Given the description of an element on the screen output the (x, y) to click on. 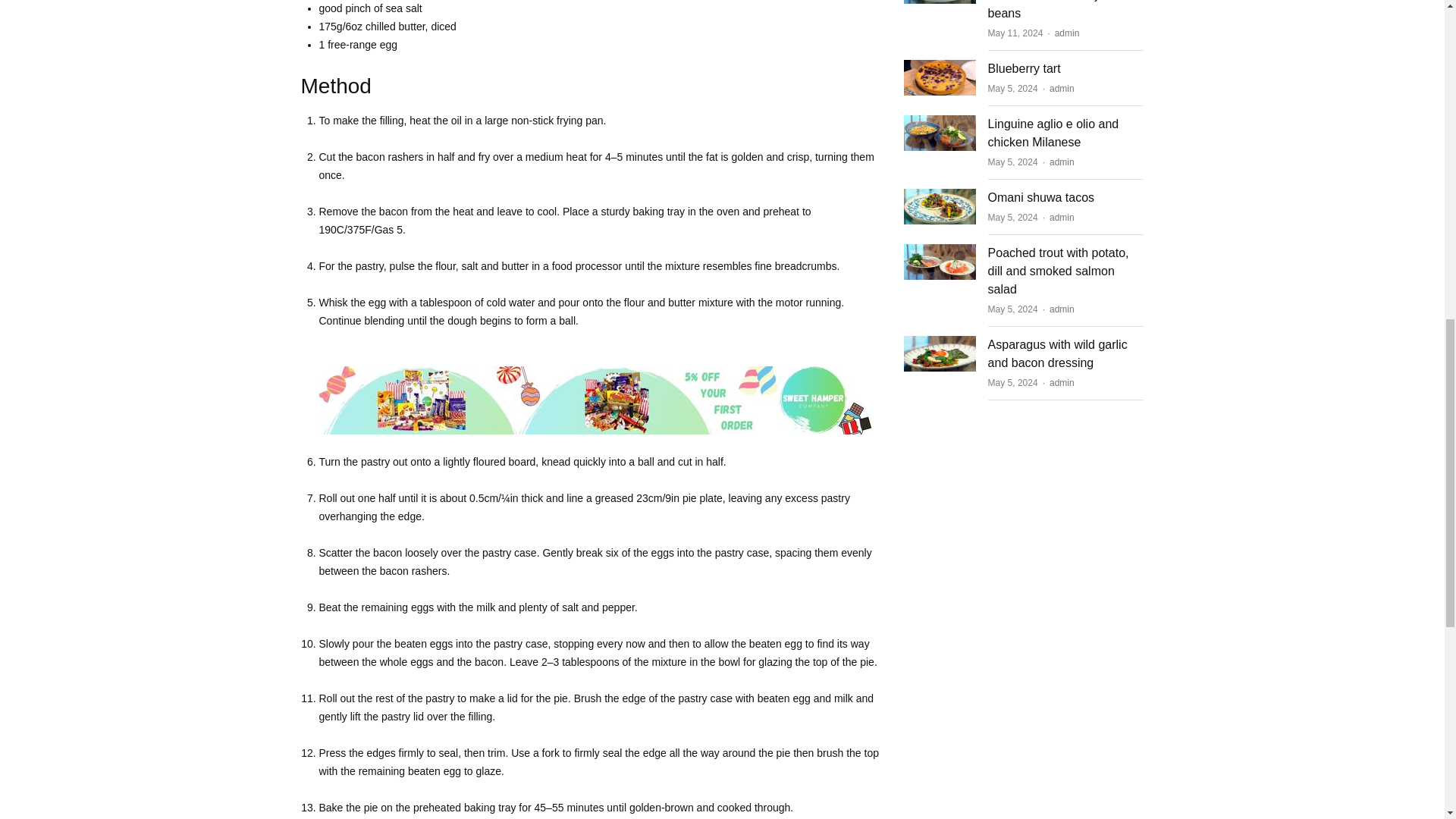
Blueberry tart (1024, 68)
Linguine aglio e olio and chicken Milanese (1053, 132)
Linguine aglio e olio and chicken Milanese (939, 122)
Omani shuwa tacos (939, 195)
Blueberry tart (939, 66)
